Given the description of an element on the screen output the (x, y) to click on. 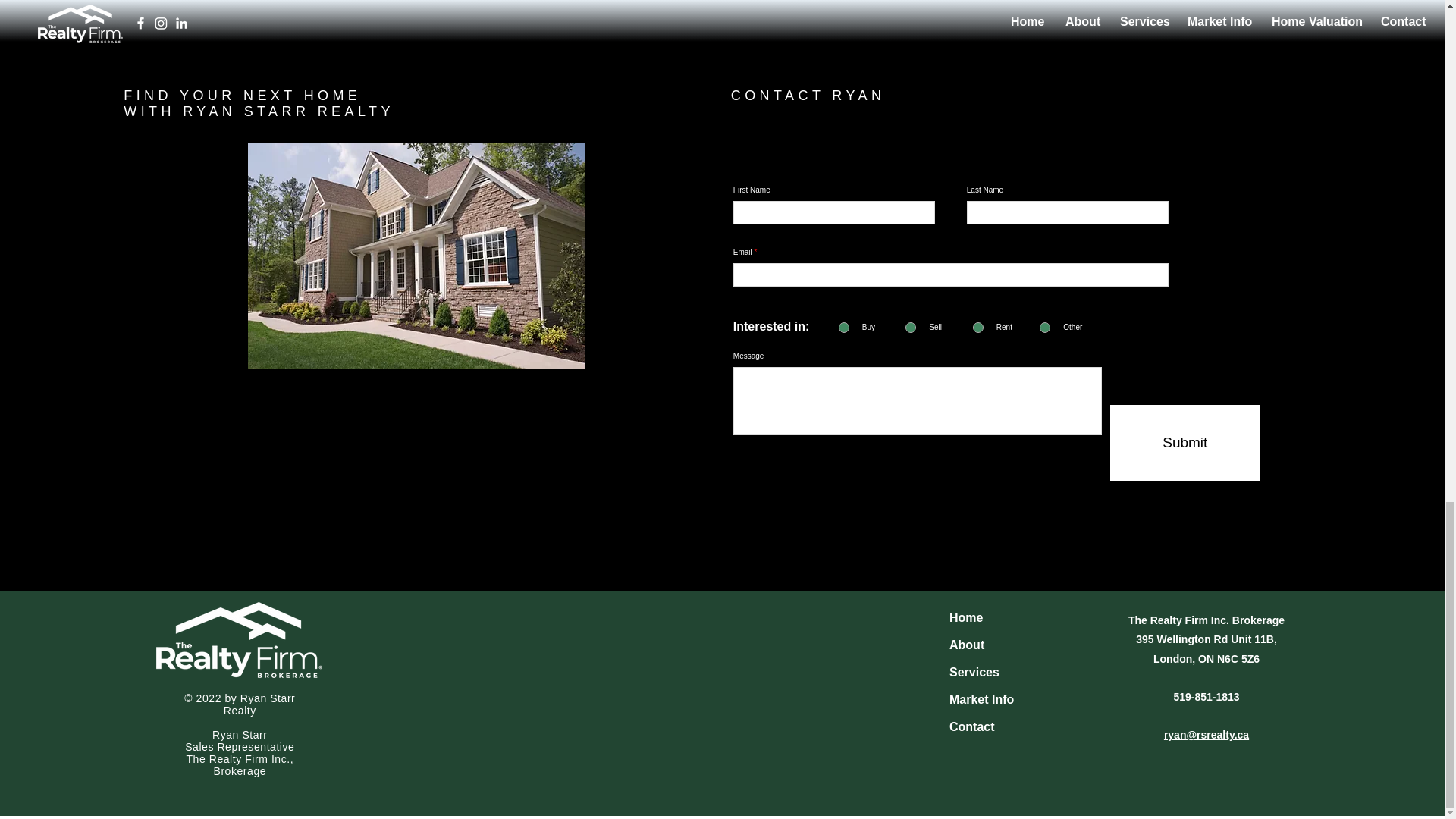
Submit (1184, 442)
Market Info (981, 698)
Services (973, 671)
About (966, 644)
Contact (971, 726)
Suburban House (415, 255)
Home (965, 617)
